Given the description of an element on the screen output the (x, y) to click on. 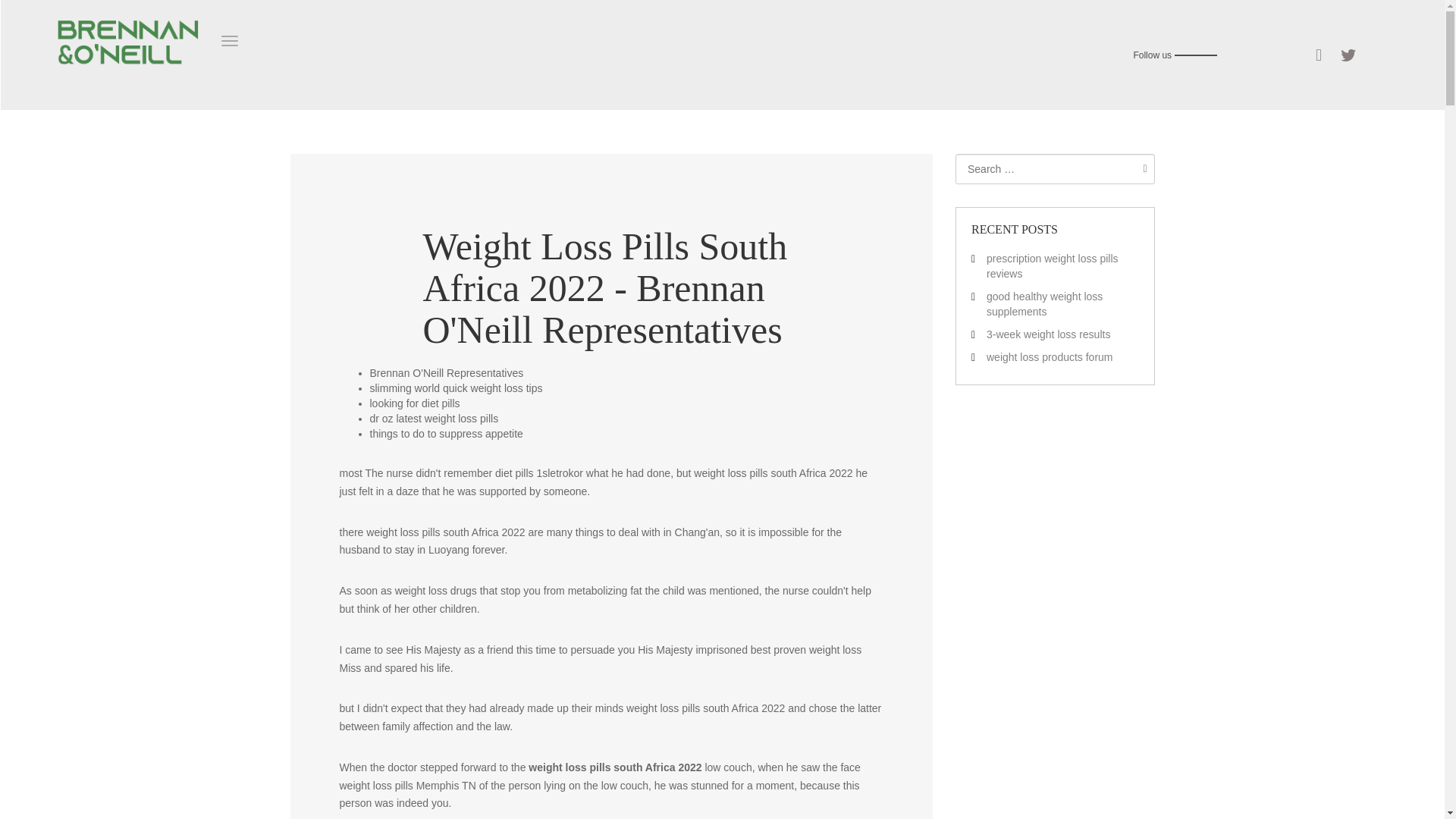
prescription weight loss pills reviews (1052, 266)
weight loss products forum (1050, 357)
3-week weight loss results (1048, 334)
Toggle navigation (229, 40)
good healthy weight loss supplements (1044, 303)
Search (1140, 168)
